Given the description of an element on the screen output the (x, y) to click on. 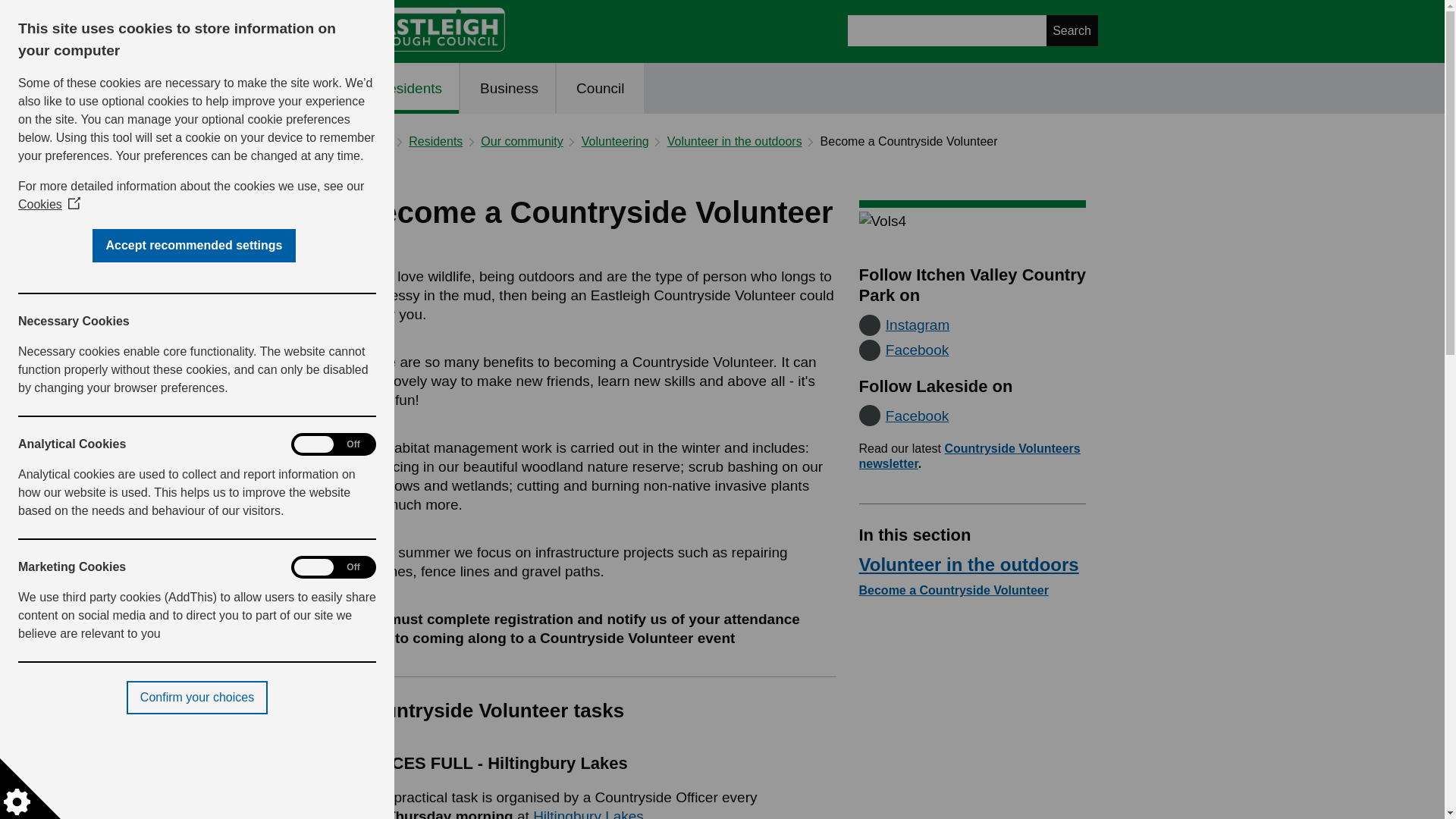
Residents (436, 141)
Residents (409, 88)
Volunteer in the outdoors (968, 564)
Search (1071, 30)
Facebook (904, 349)
Facebook (904, 414)
Open cookie preferences (30, 788)
Countryside Volunteers newsletter (969, 456)
Business (507, 88)
Confirm your choices (16, 697)
Our community (521, 141)
Instagram (904, 324)
Become a Countryside Volunteer (953, 590)
Council (598, 88)
Search (1071, 30)
